Given the description of an element on the screen output the (x, y) to click on. 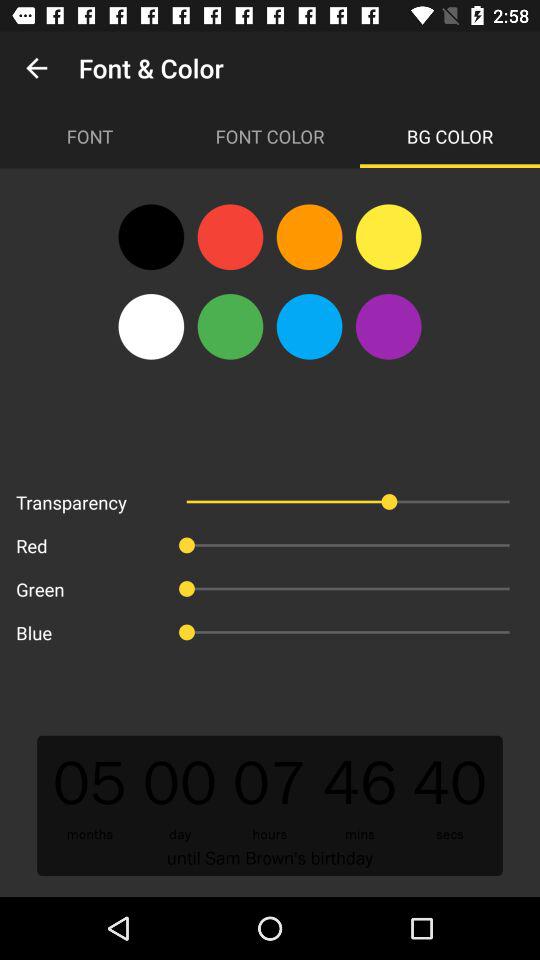
turn on the item above the transparency icon (151, 326)
